Given the description of an element on the screen output the (x, y) to click on. 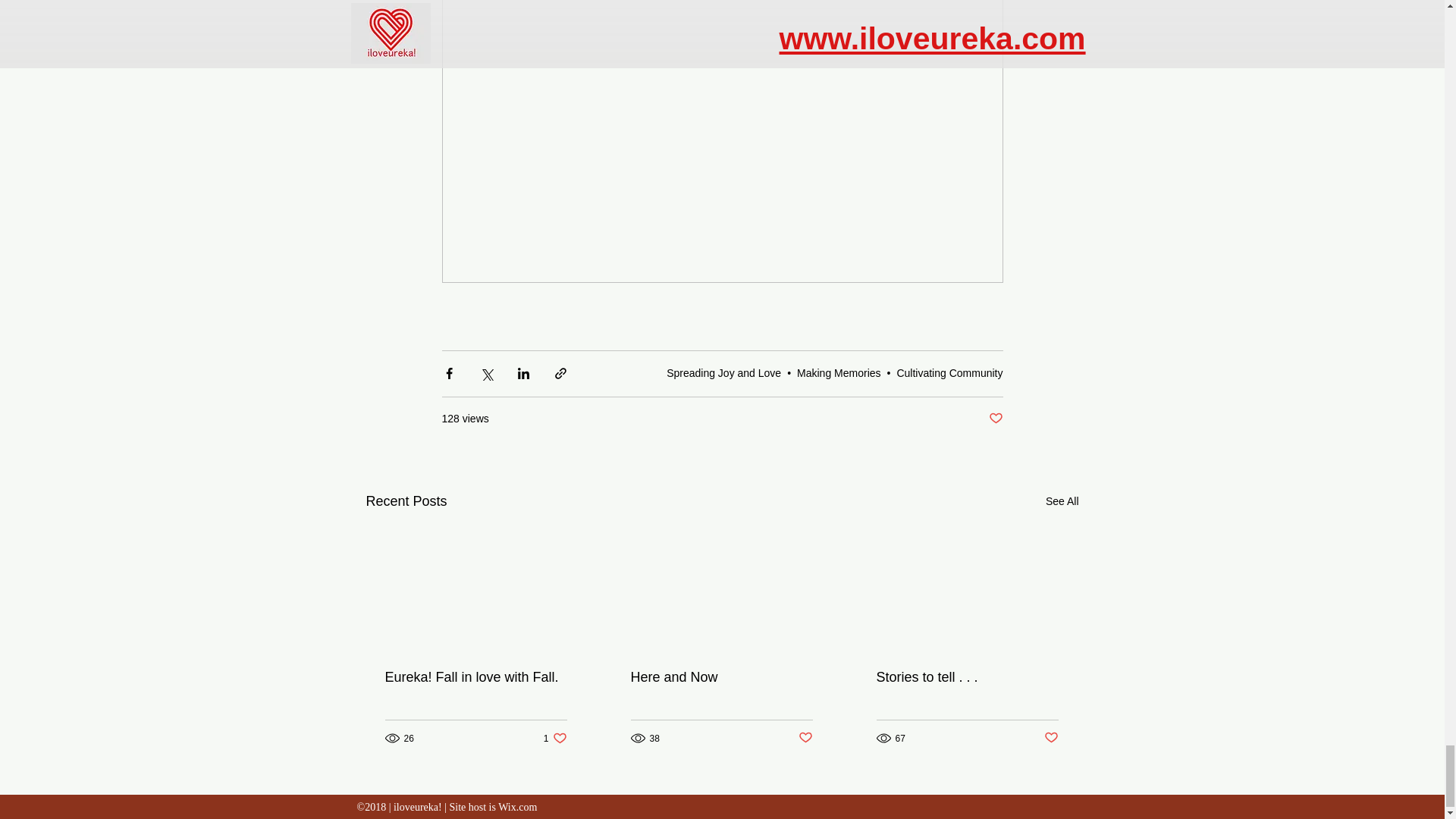
Post not marked as liked (995, 418)
Spreading Joy and Love (723, 372)
Post not marked as liked (1050, 738)
Eureka! Fall in love with Fall. (476, 677)
Stories to tell . . . (967, 677)
Making Memories (838, 372)
Post not marked as liked (804, 738)
Cultivating Community (949, 372)
Here and Now (721, 677)
